Given the description of an element on the screen output the (x, y) to click on. 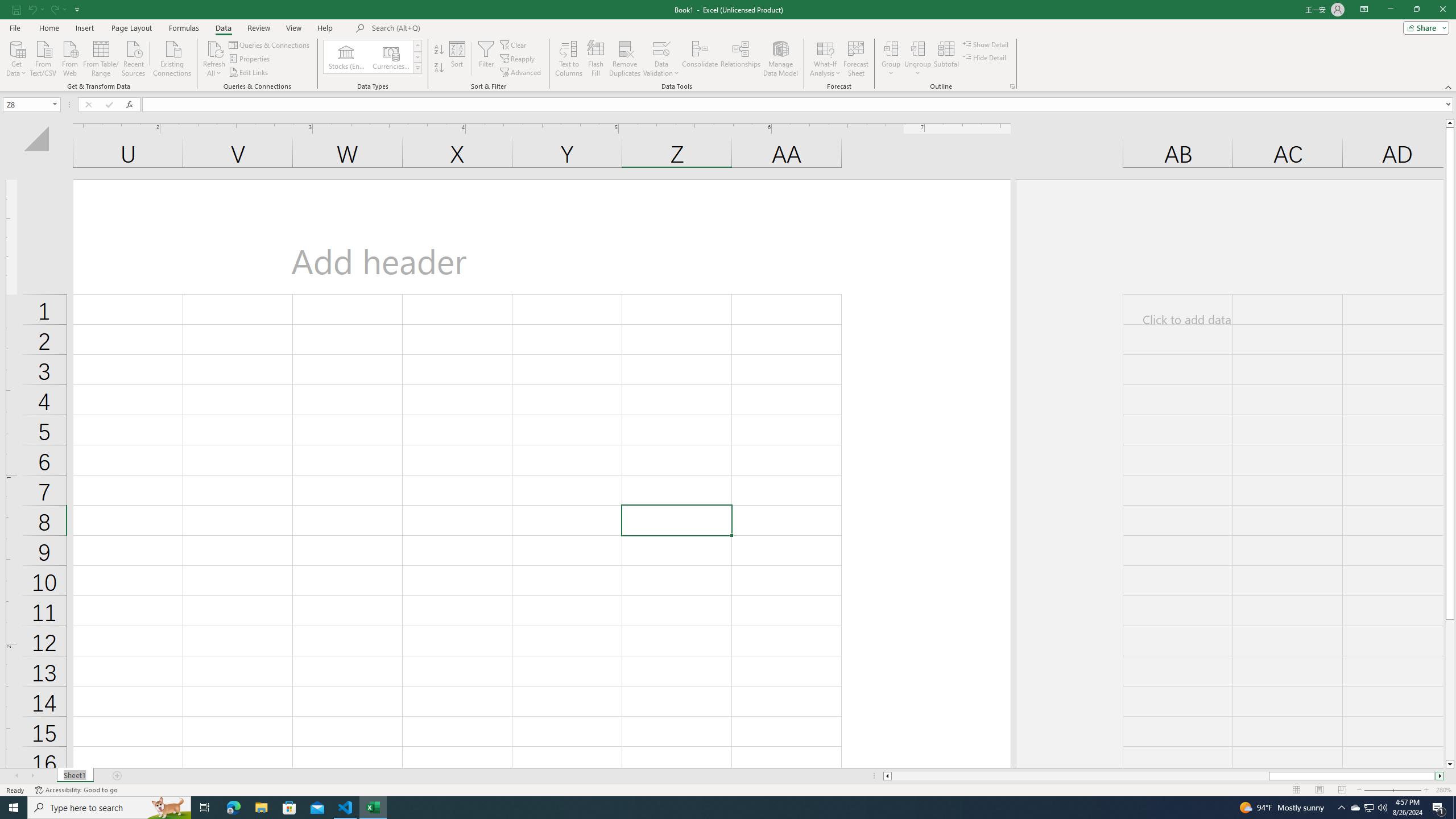
Page Break Preview (1342, 790)
Normal (1296, 790)
Redo (57, 9)
Review (258, 28)
Group... (890, 58)
Zoom Out (1385, 790)
Text to Columns... (568, 58)
Help (325, 28)
Column right (1440, 775)
File Tab (15, 27)
Page left (1079, 775)
Undo (35, 9)
Add Sheet (117, 775)
Properties (250, 58)
Formula Bar (798, 104)
